Given the description of an element on the screen output the (x, y) to click on. 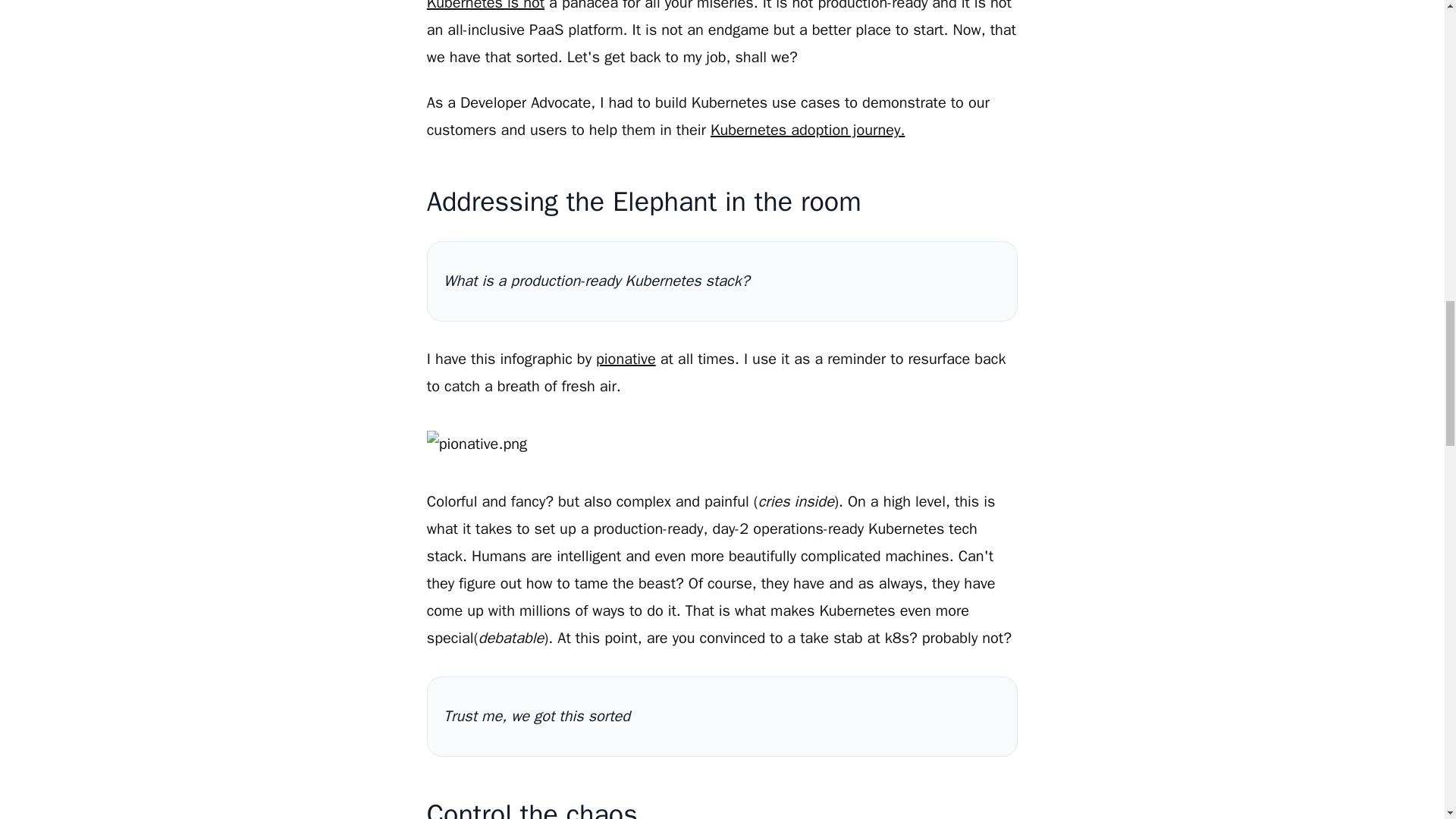
pionative (625, 358)
Kubernetes adoption journey. (807, 129)
Kubernetes is not (485, 6)
